Given the description of an element on the screen output the (x, y) to click on. 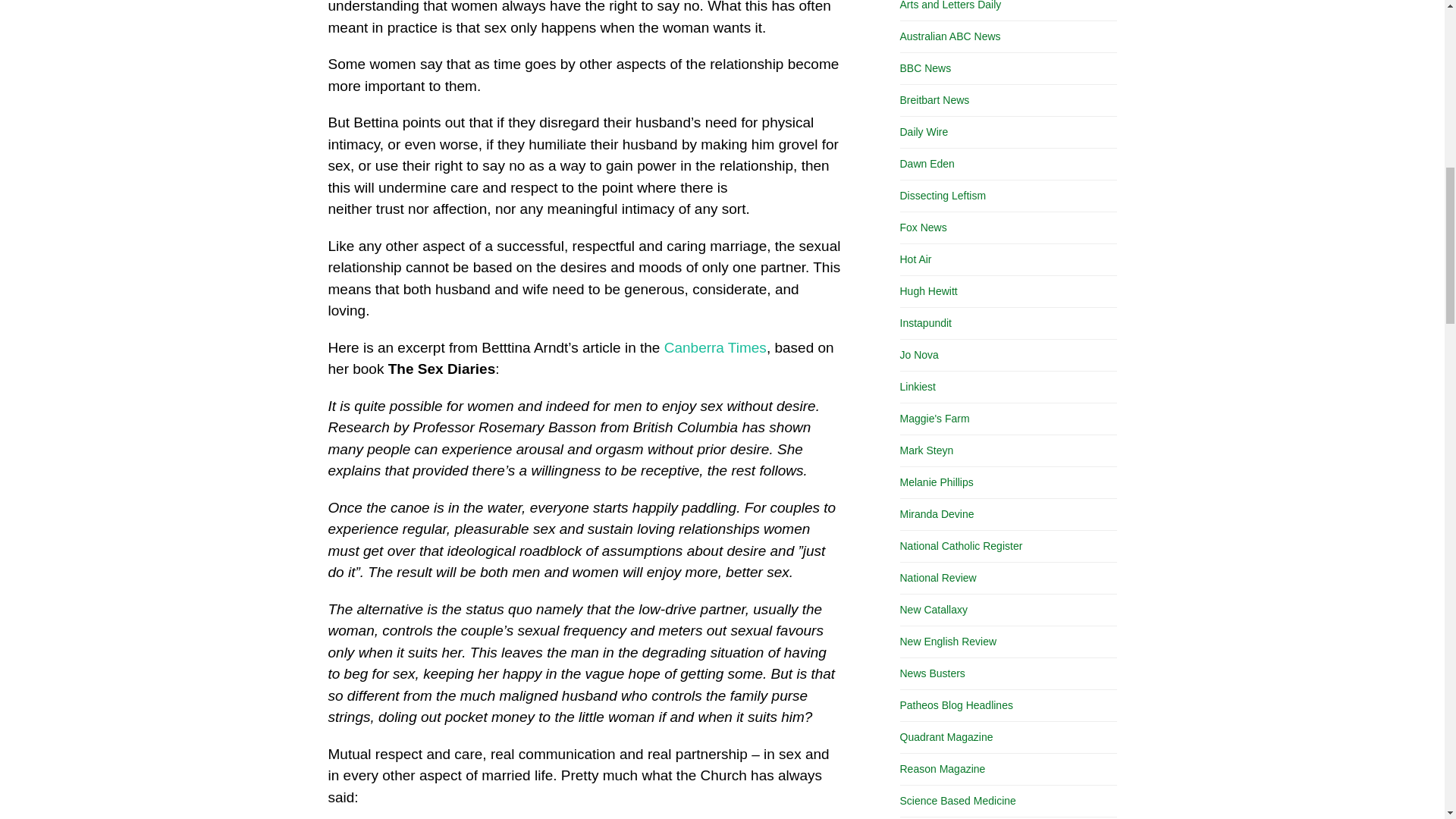
BBC News (924, 68)
National Catholic Register (960, 545)
Lots of interesting, thought-provoking articles here. (934, 418)
Jo Nova (918, 354)
Canberra Times (715, 347)
Fox News (922, 227)
A good alternative to CNN, the ABC and BBC, etc (937, 577)
Dissecting Leftism (942, 195)
Carbon, climate and tax (918, 354)
Arts and Letters Daily (950, 5)
Linkiest (916, 386)
Melanie Phillips (935, 481)
The essential blog for up to the minute commentary. (925, 322)
Instapundit (925, 322)
